Given the description of an element on the screen output the (x, y) to click on. 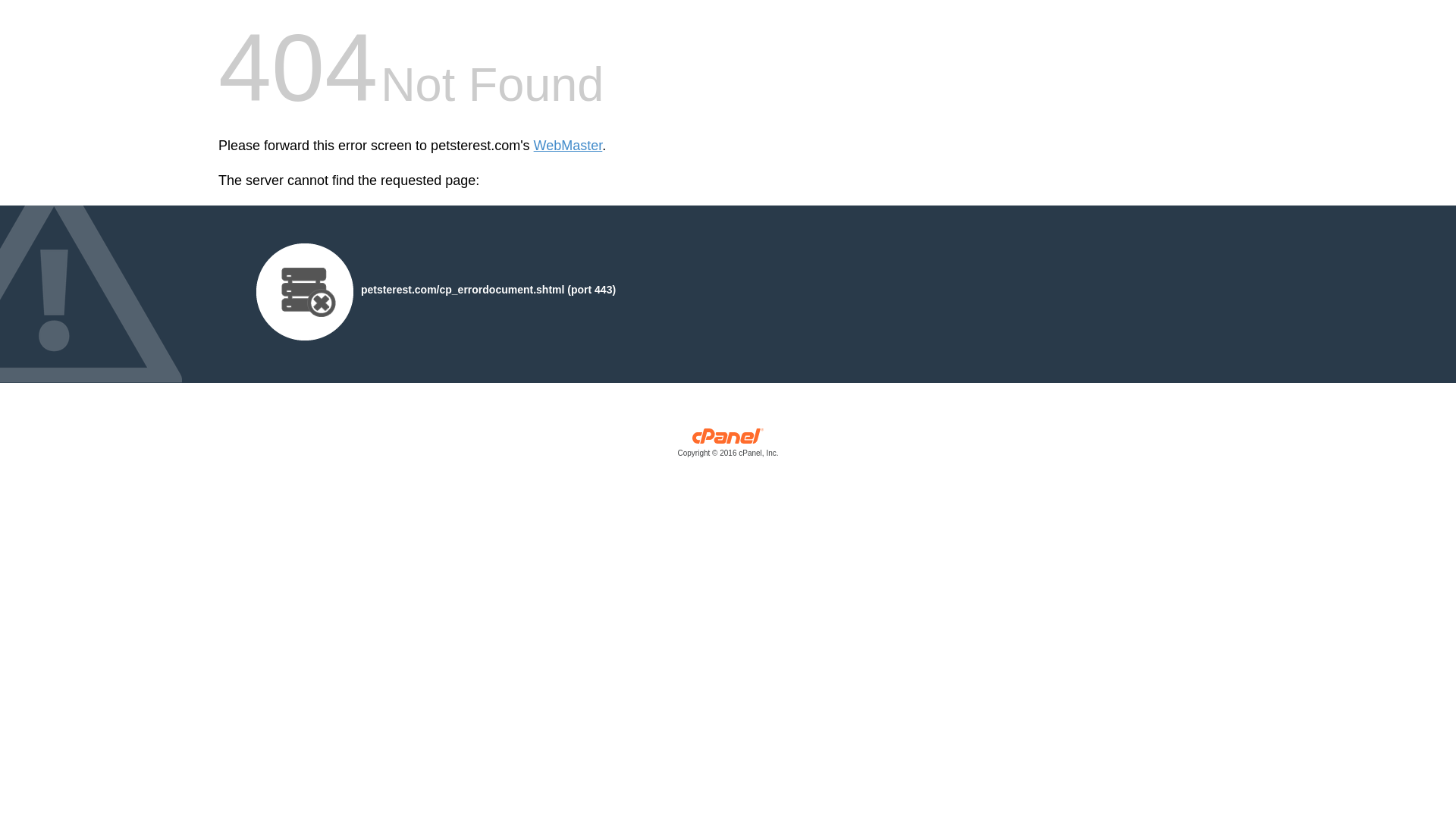
WebMaster (568, 145)
cPanel, Inc. (727, 446)
